Given the description of an element on the screen output the (x, y) to click on. 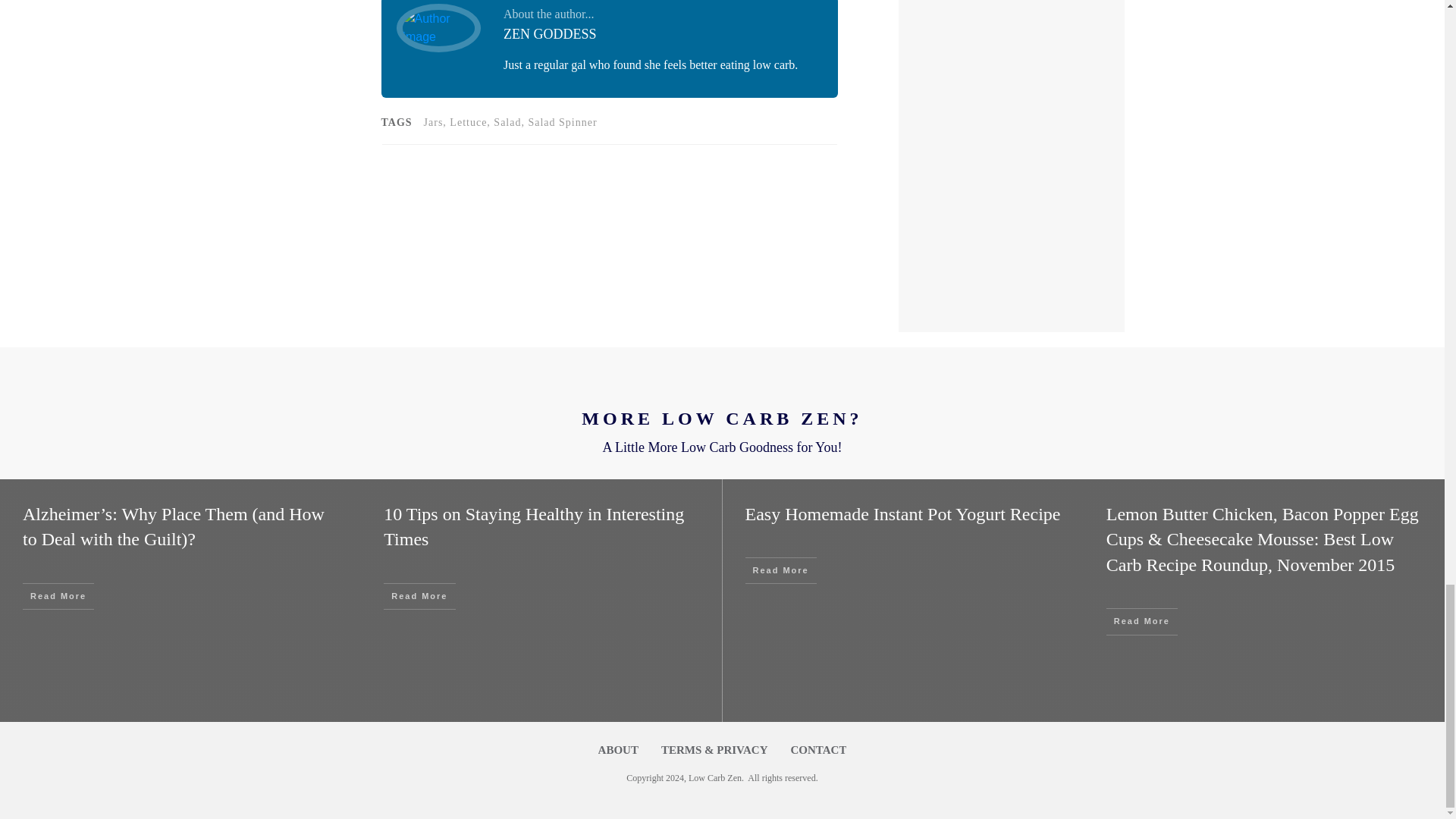
10 Tips on Staying Healthy in Interesting Times (534, 526)
Easy Homemade Instant Pot Yogurt Recipe (901, 514)
